Given the description of an element on the screen output the (x, y) to click on. 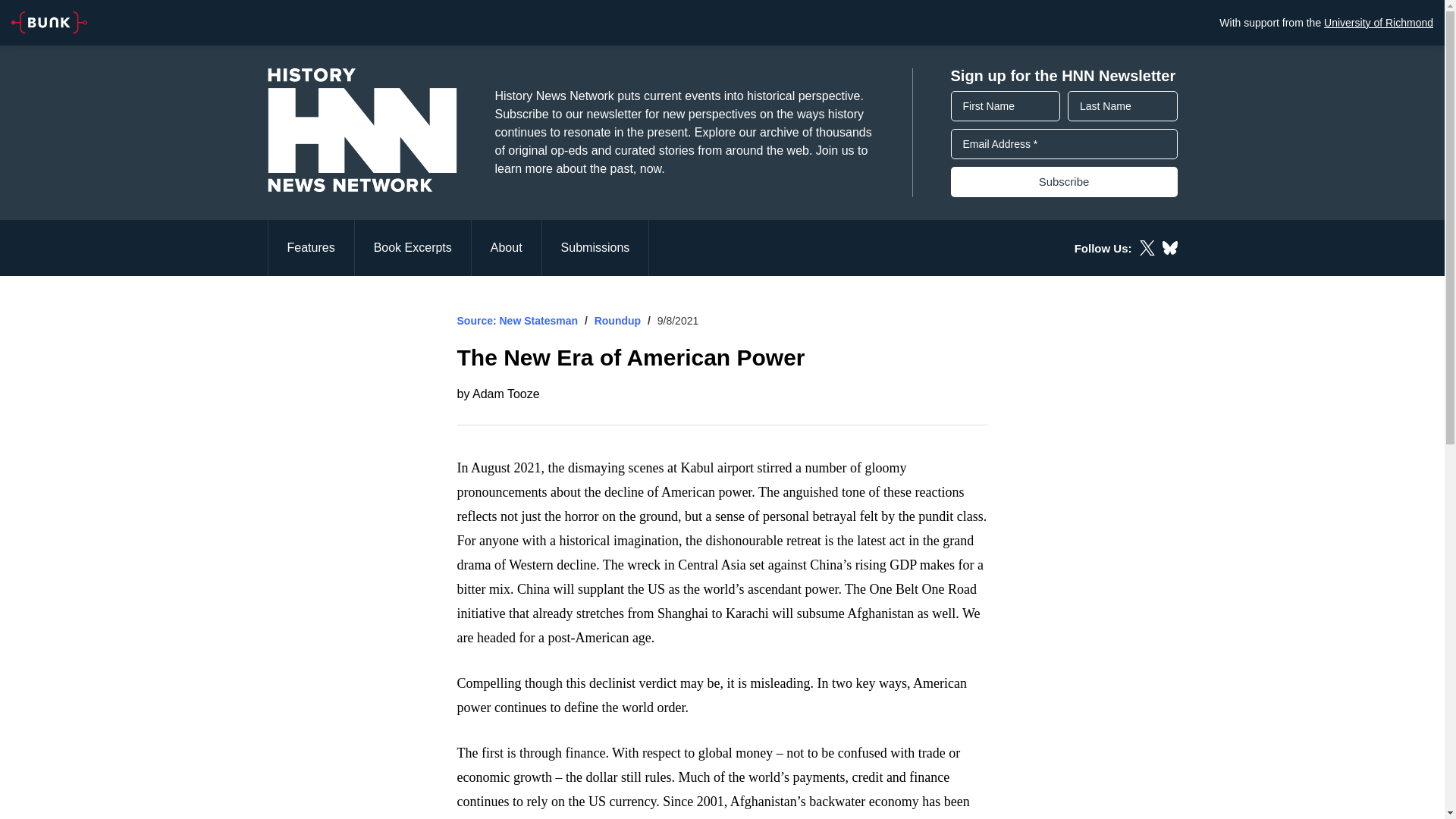
About (506, 248)
Submissions (595, 248)
Source: New Statesman (517, 320)
Subscribe (1063, 182)
Follow HNN on X, formerly Twitter (1146, 247)
Features (309, 248)
Follow HNN on Bluesky (1168, 247)
University of Richmond (1377, 22)
Subscribe (1063, 182)
Book Excerpts (413, 248)
Roundup (617, 320)
